Given the description of an element on the screen output the (x, y) to click on. 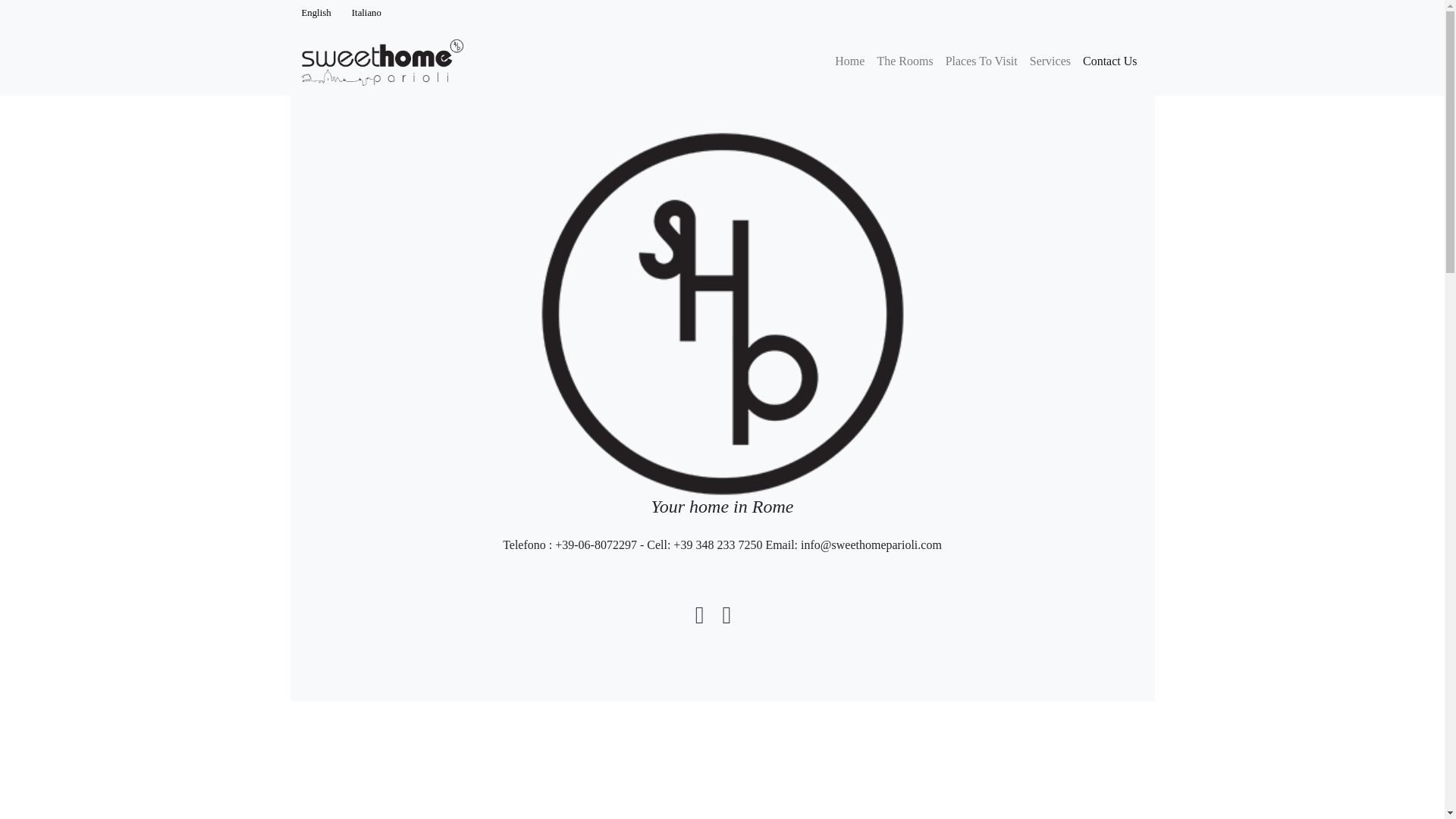
Home (849, 60)
Contact Us (1109, 60)
English (317, 12)
Italiano (366, 12)
Home (849, 60)
Services (1050, 60)
The Rooms (904, 60)
Places To Visit (981, 60)
Services (1050, 60)
The Rooms (904, 60)
